Given the description of an element on the screen output the (x, y) to click on. 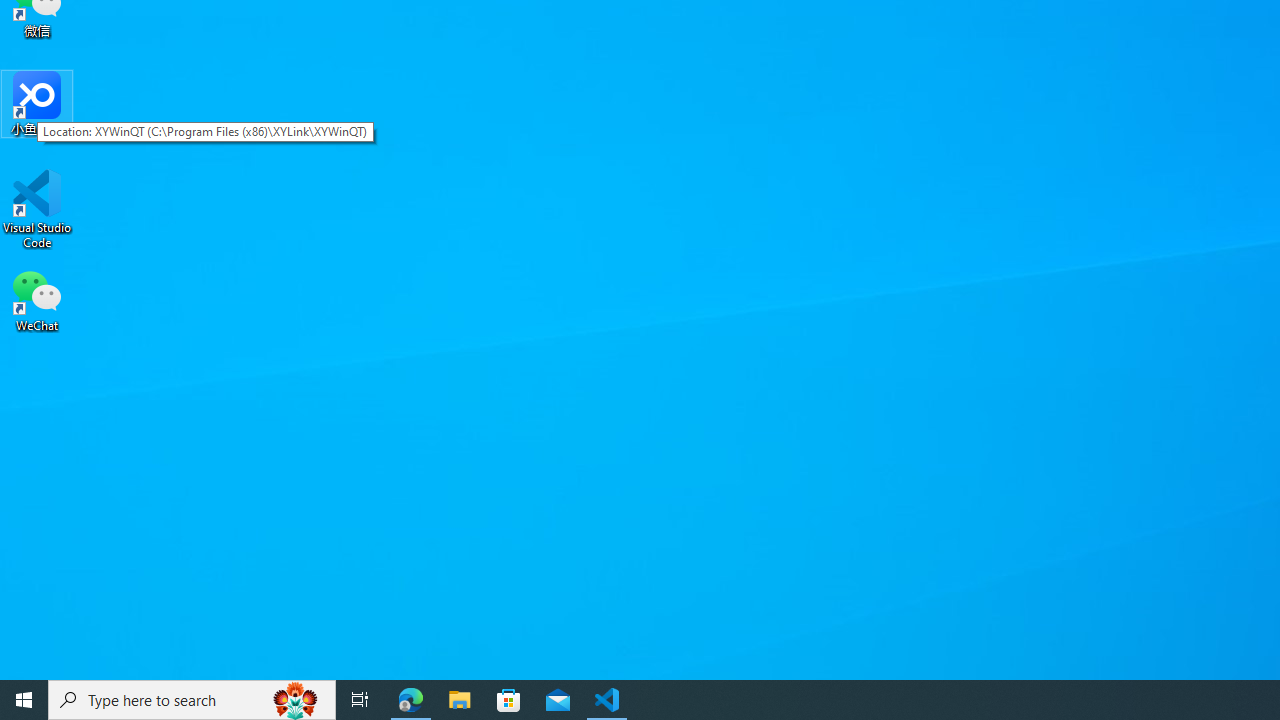
Microsoft Edge - 1 running window (411, 699)
Type here to search (191, 699)
File Explorer (460, 699)
Search highlights icon opens search home window (295, 699)
Microsoft Store (509, 699)
Visual Studio Code - 1 running window (607, 699)
Visual Studio Code (37, 209)
Task View (359, 699)
WeChat (37, 299)
Start (24, 699)
